Given the description of an element on the screen output the (x, y) to click on. 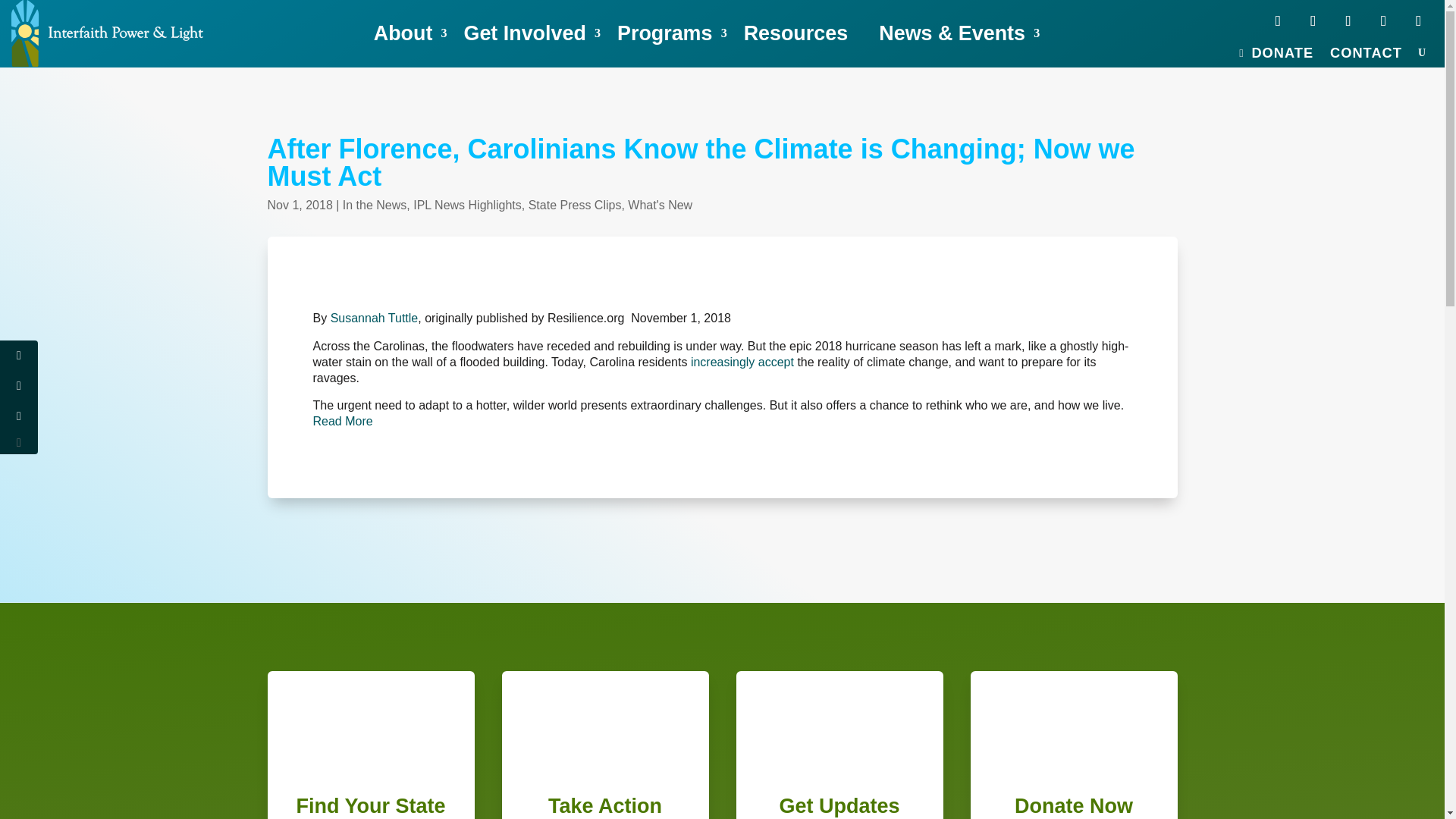
Follow on X (1312, 21)
Follow on Instagram (1382, 21)
Follow on Youtube (1347, 21)
Follow on LinkedIn (1418, 21)
Follow on Facebook (1277, 21)
About (410, 33)
Programs (671, 33)
Resources (803, 33)
Get Involved (531, 33)
